Given the description of an element on the screen output the (x, y) to click on. 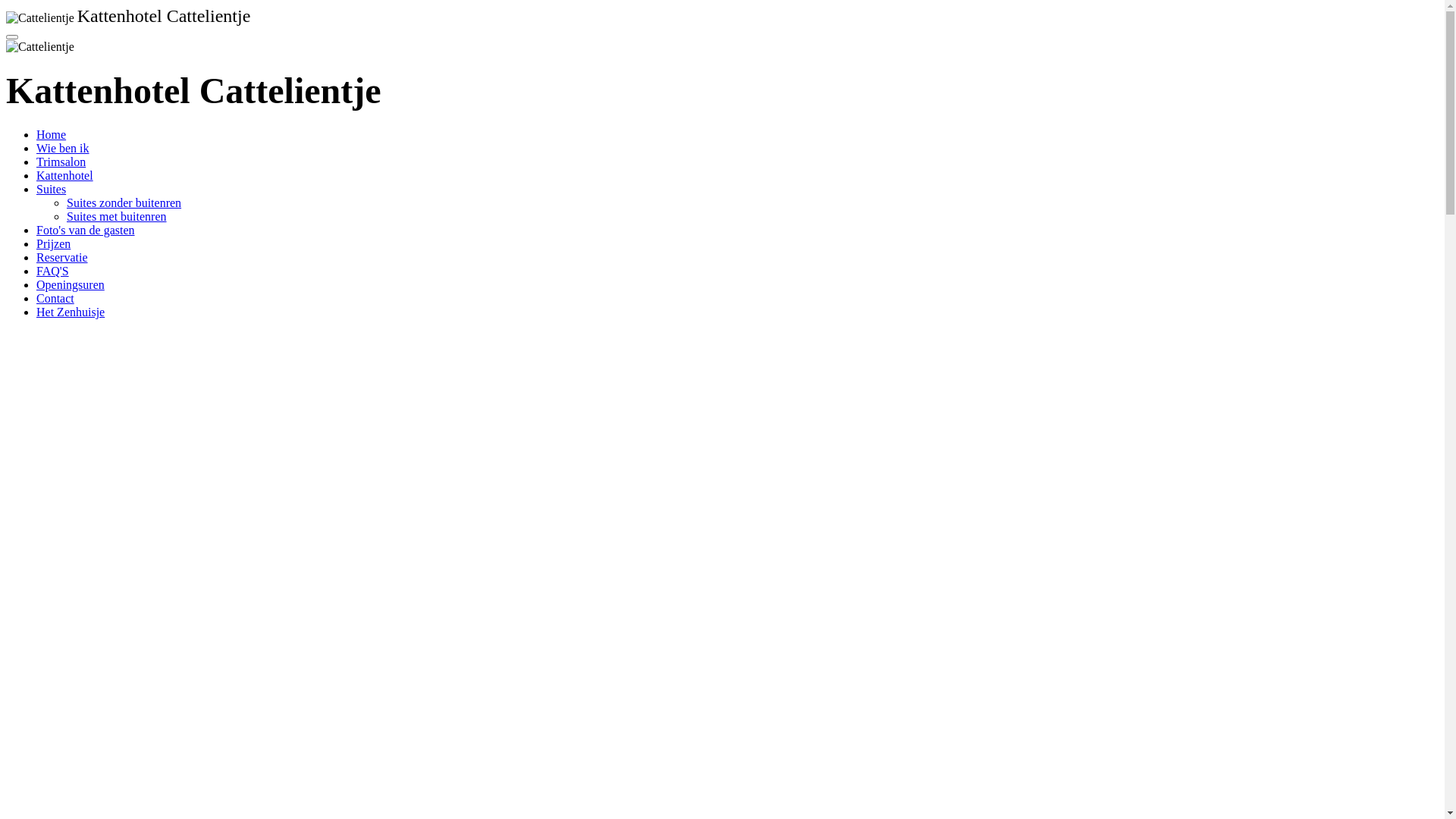
Wie ben ik Element type: text (62, 147)
Prijzen Element type: text (53, 243)
Contact Element type: text (55, 297)
Cattelientje Element type: hover (40, 18)
Suites met buitenren Element type: text (116, 216)
Het Zenhuisje Element type: text (70, 311)
Trimsalon Element type: text (60, 161)
Kattenhotel Element type: text (64, 175)
Cattelientje Element type: hover (40, 46)
Openingsuren Element type: text (70, 284)
Suites Element type: text (50, 188)
Home Element type: text (50, 134)
Reservatie Element type: text (61, 257)
Suites zonder buitenren Element type: text (123, 202)
Foto's van de gasten Element type: text (85, 229)
FAQ'S Element type: text (52, 270)
